Given the description of an element on the screen output the (x, y) to click on. 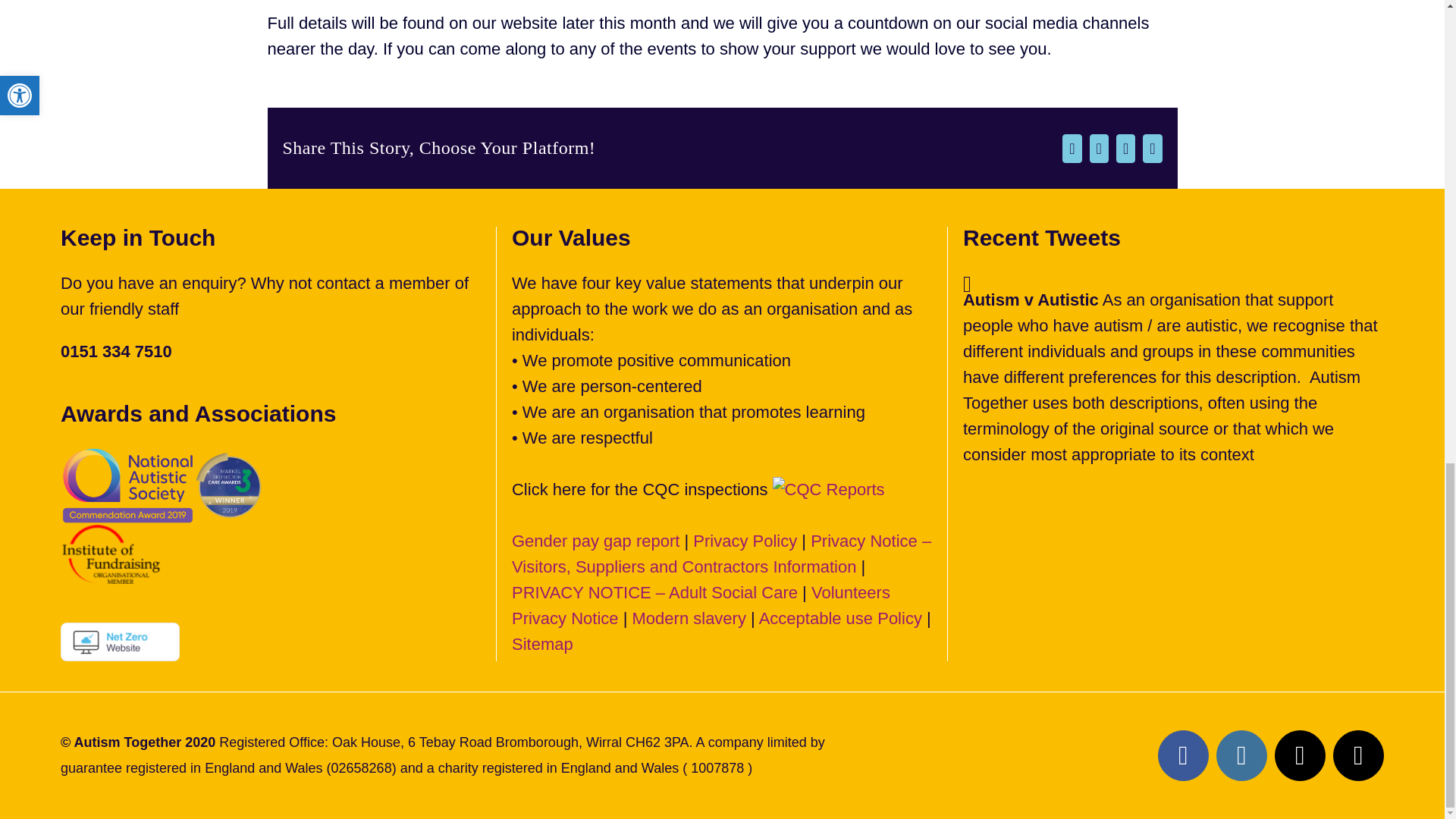
Email (1358, 755)
Facebook (1182, 755)
Instagram (1240, 755)
X (1299, 755)
